Given the description of an element on the screen output the (x, y) to click on. 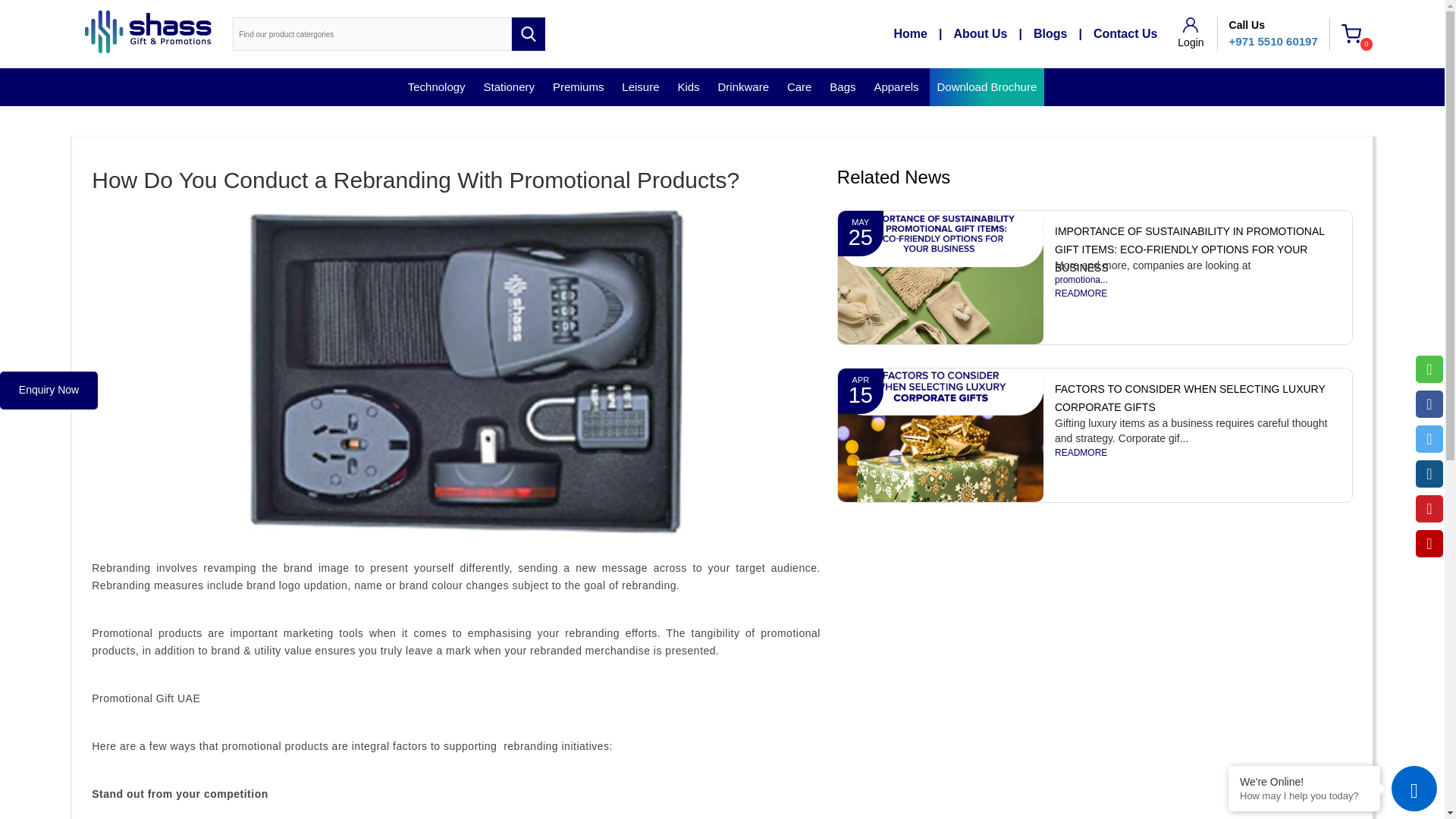
Enquiry Now (48, 390)
Drinkware (743, 86)
Login (1189, 33)
READMORE (1197, 293)
promotiona... (1197, 279)
Blogs (1063, 34)
How may I help you today? (1304, 795)
We're Online! (1304, 781)
Kids (687, 86)
Care (798, 86)
Apparels (896, 86)
Contact Us (1125, 34)
About Us (993, 34)
Leisure (640, 86)
Home (923, 34)
